Given the description of an element on the screen output the (x, y) to click on. 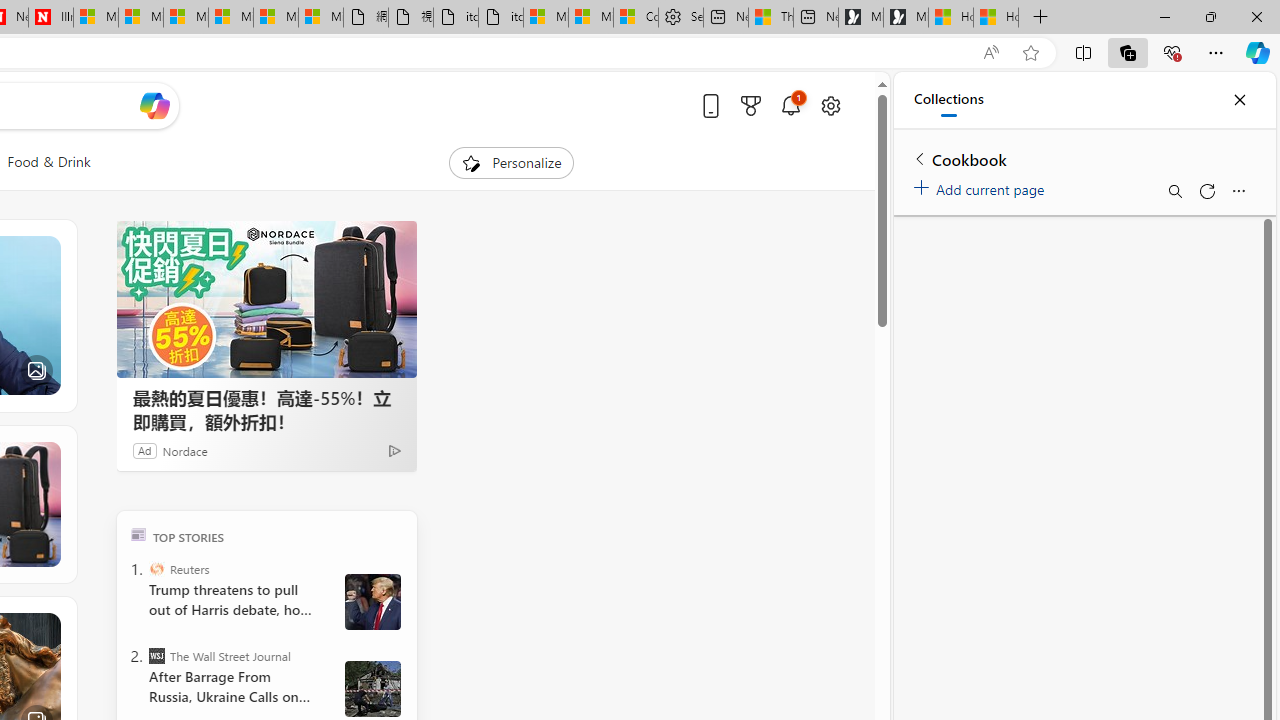
Microsoft Start Gaming (905, 17)
Nordace (184, 450)
Open settings (830, 105)
How to Use a TV as a Computer Monitor (995, 17)
Add current page (982, 186)
More options menu (1238, 190)
Microsoft rewards (749, 105)
Ad (145, 450)
Notifications (790, 105)
